Given the description of an element on the screen output the (x, y) to click on. 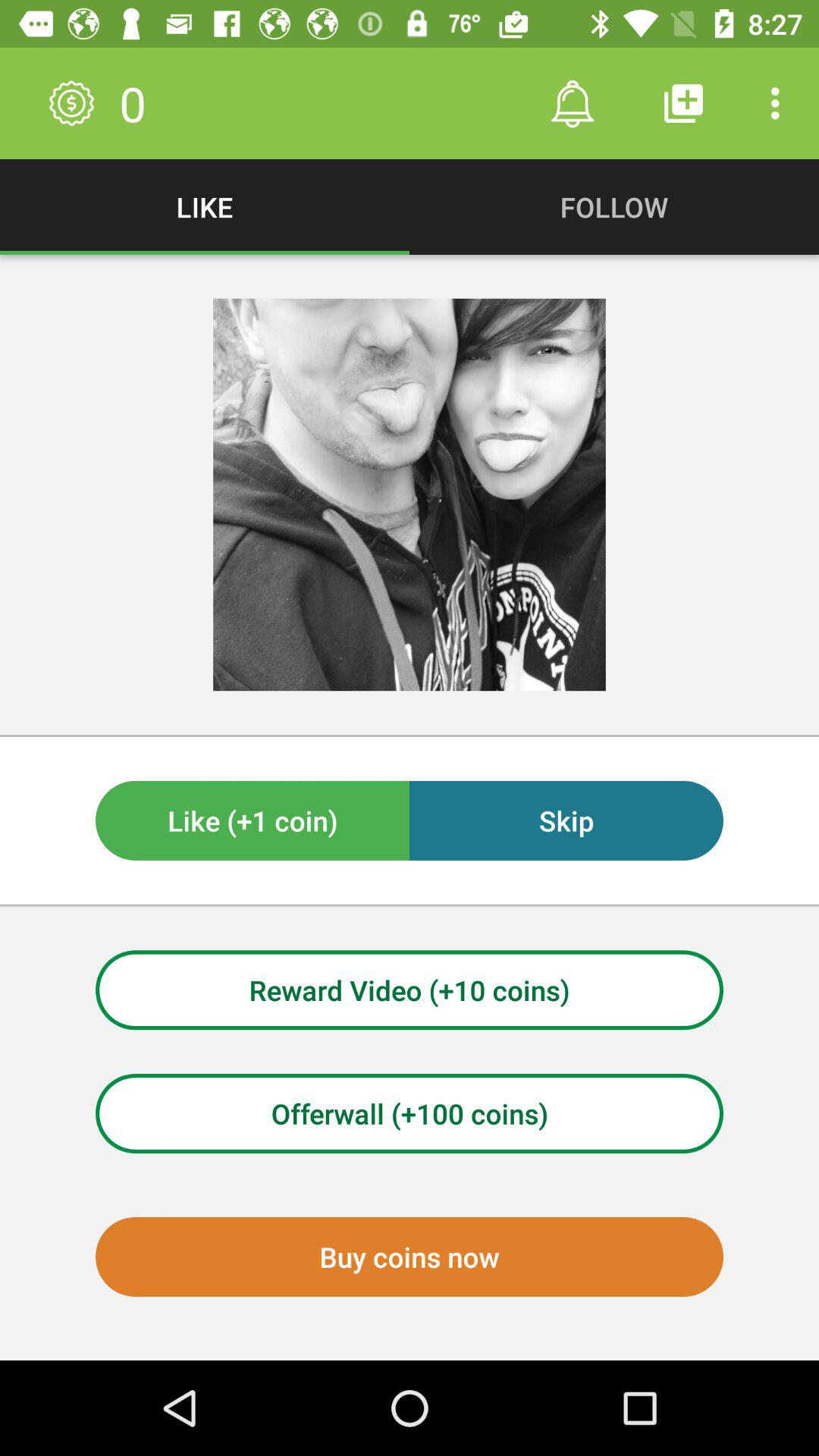
press the item above the buy coins now (409, 1113)
